Given the description of an element on the screen output the (x, y) to click on. 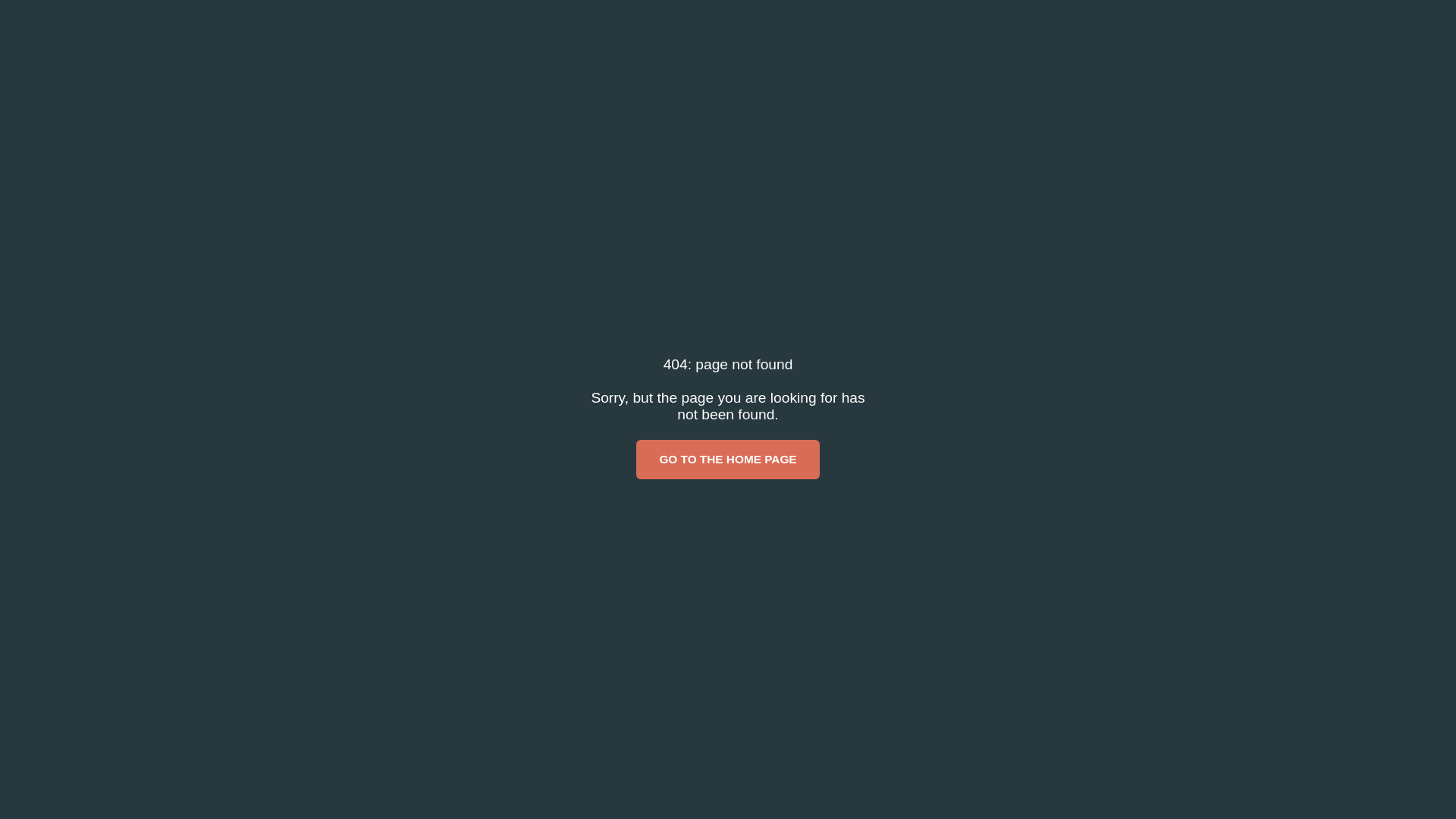
GO TO THE HOME PAGE Element type: text (728, 459)
